Given the description of an element on the screen output the (x, y) to click on. 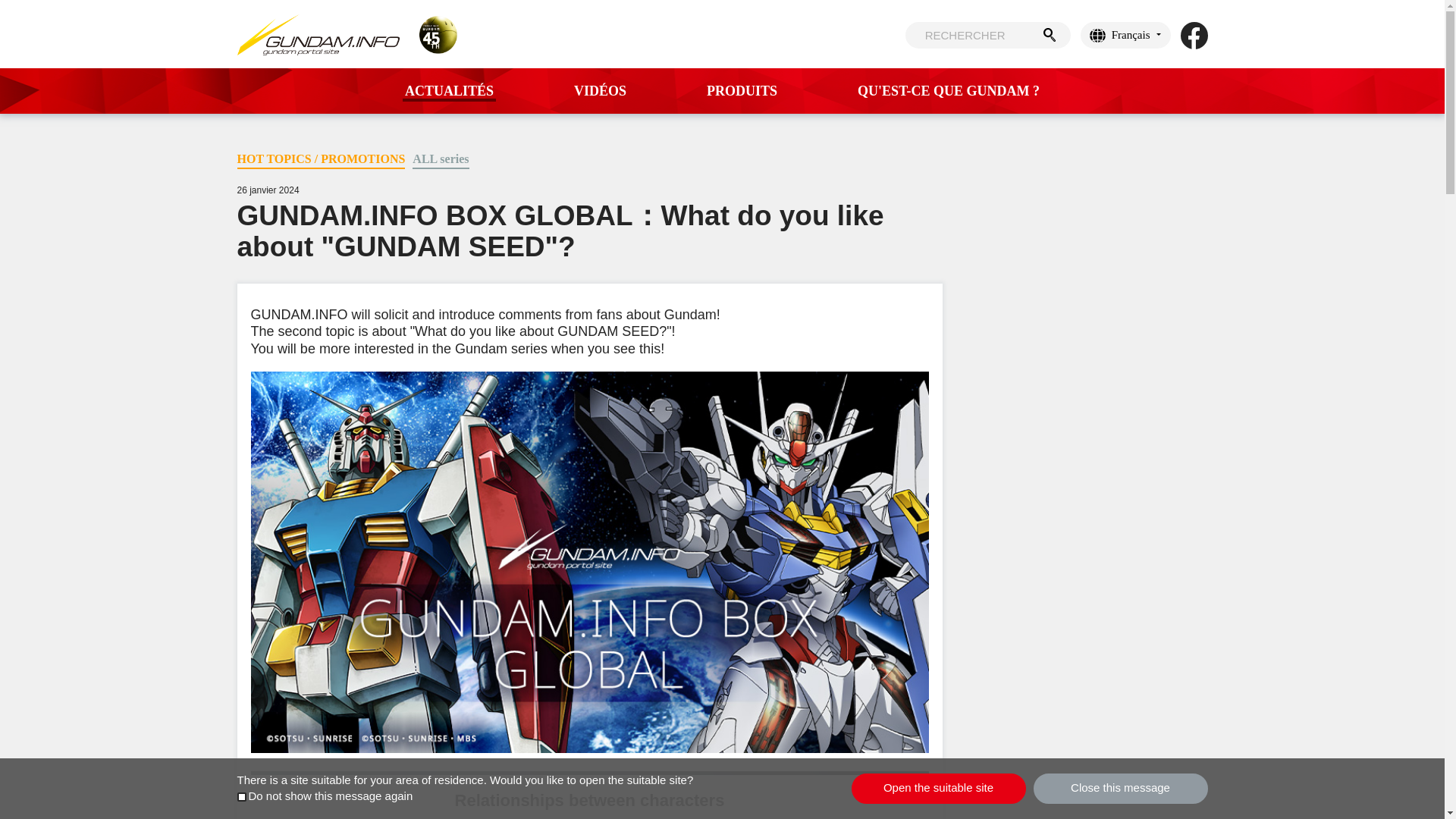
PRODUITS (741, 90)
QU'EST-CE QUE GUNDAM ? (948, 90)
